Given the description of an element on the screen output the (x, y) to click on. 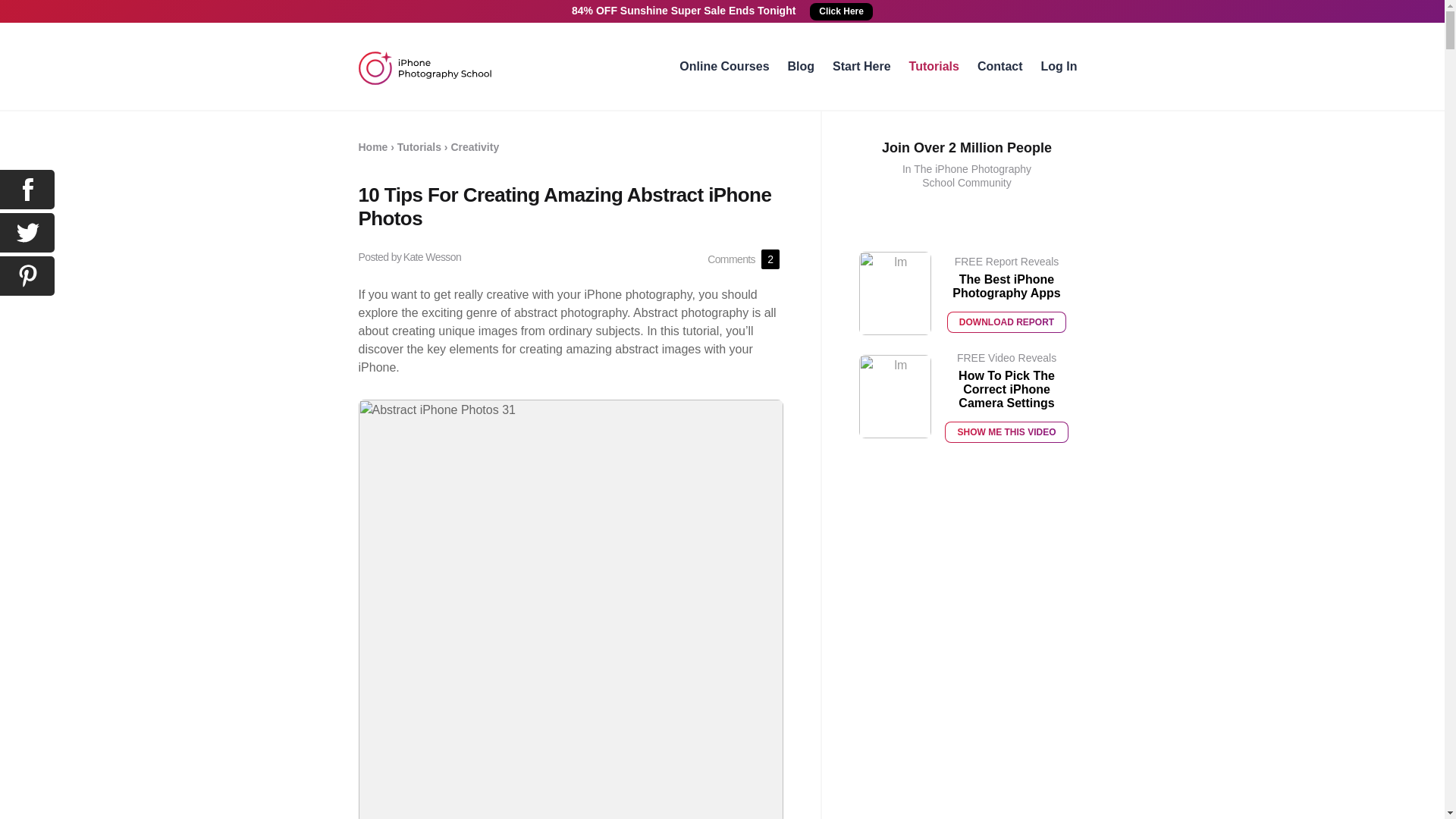
Kate Wesson (432, 256)
Blog (801, 65)
Online Courses (723, 65)
Contact (1000, 65)
Tutorials (933, 65)
Creativity (474, 146)
Log In (1059, 65)
DOWNLOAD REPORT (1006, 322)
Click Here (840, 11)
SHOW ME THIS VIDEO (1005, 432)
